Given the description of an element on the screen output the (x, y) to click on. 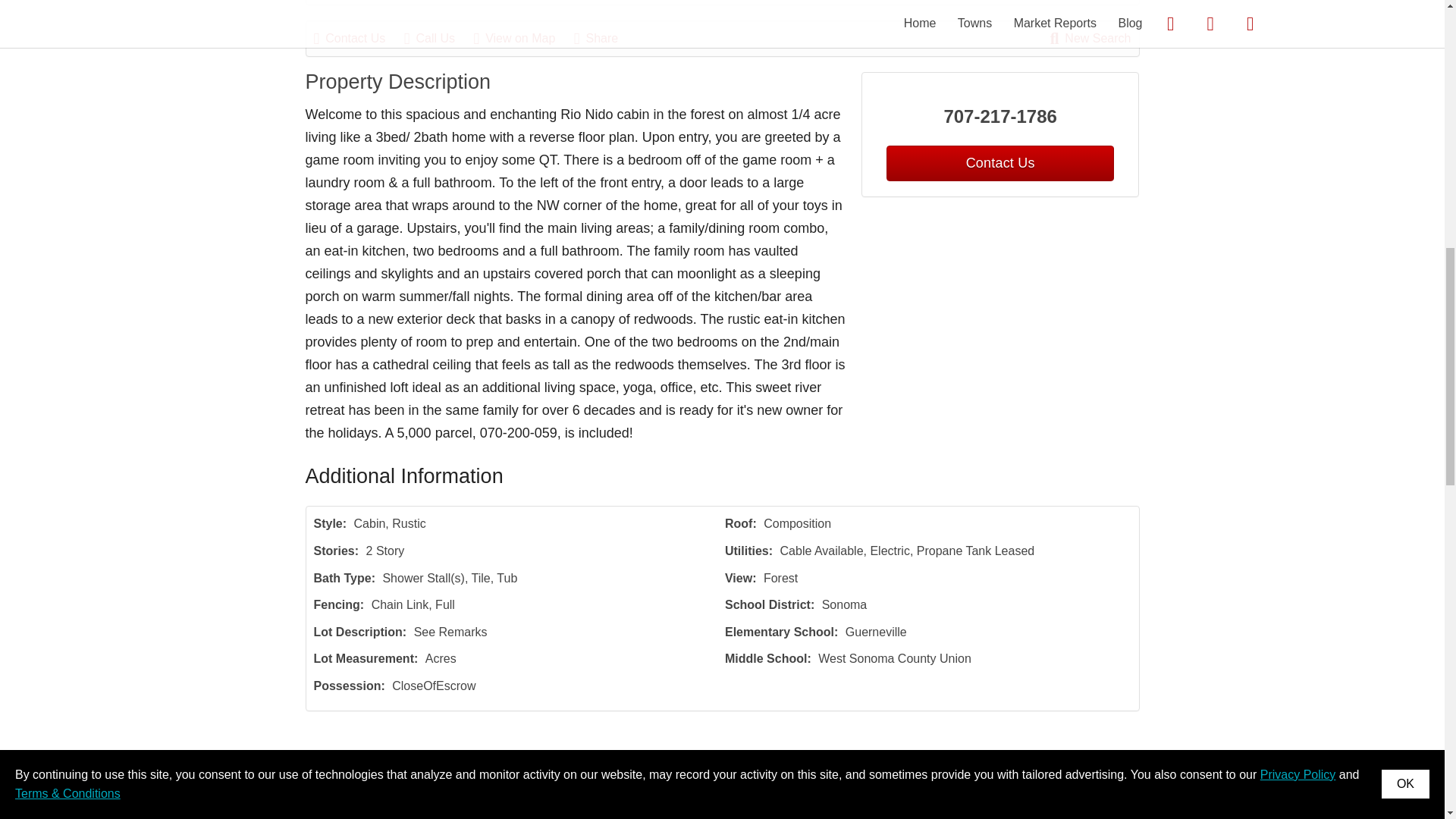
New Search (1090, 38)
Contact Us (357, 38)
Contact Us (999, 162)
707-217-1786 (1000, 116)
Share (603, 38)
View on Map (521, 38)
Call Us (437, 38)
